Given the description of an element on the screen output the (x, y) to click on. 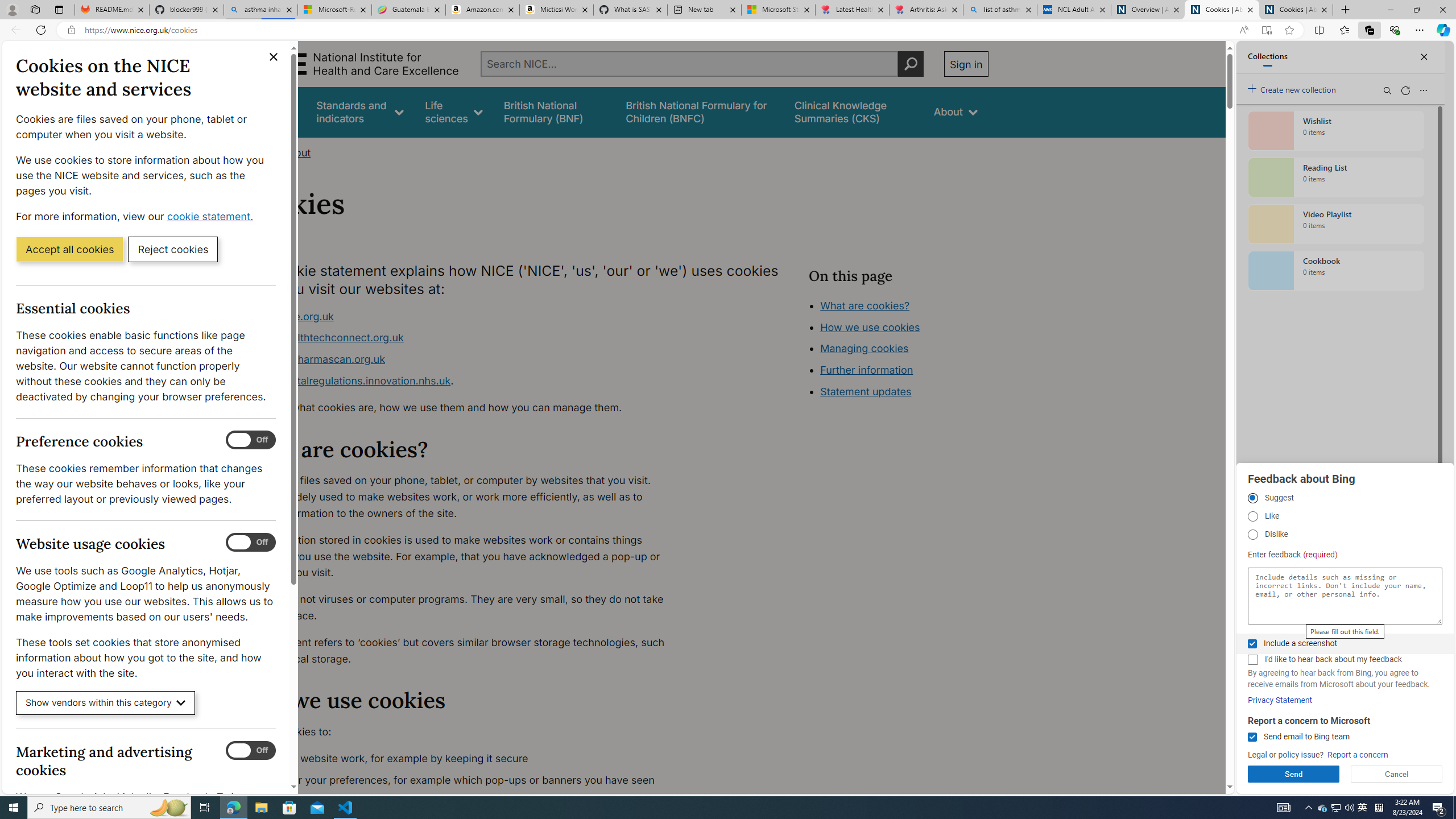
New tab (703, 9)
Reject cookies (173, 248)
How we use cookies (869, 327)
New Tab (1346, 9)
Further information (865, 369)
asthma inhaler - Search (260, 9)
Send (1293, 773)
What are cookies? (864, 305)
Sign in (965, 63)
Class: in-page-nav__list (898, 349)
Collections (1369, 29)
Website usage cookies (250, 542)
Include a screenshot (1251, 643)
